Given the description of an element on the screen output the (x, y) to click on. 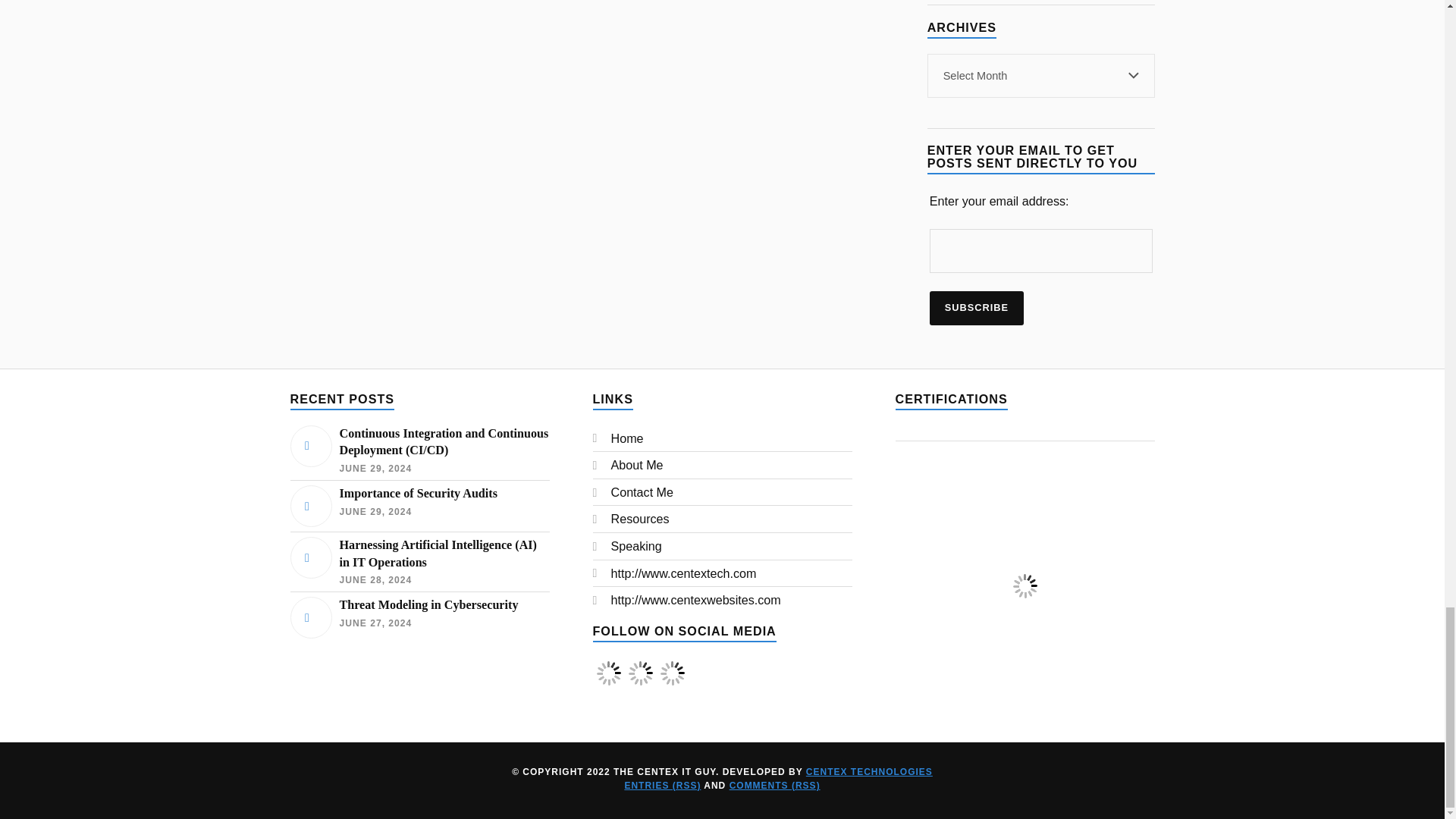
LinkedIn (672, 684)
LinkedIn (671, 672)
Facebook (608, 684)
Facebook (607, 672)
Subscribe (976, 308)
Twitter (640, 684)
Twitter (639, 672)
